Given the description of an element on the screen output the (x, y) to click on. 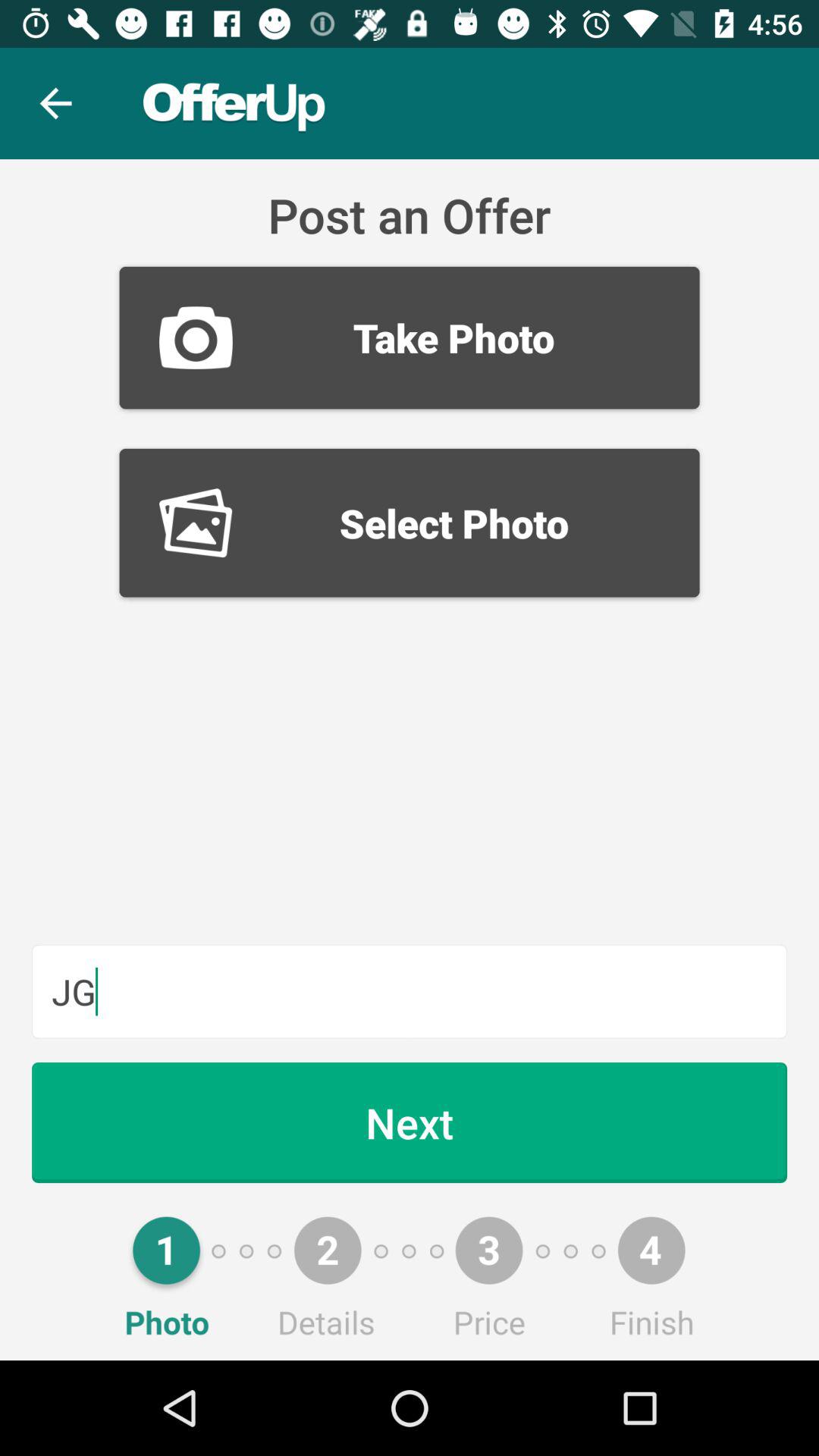
turn off the take photo (409, 337)
